Given the description of an element on the screen output the (x, y) to click on. 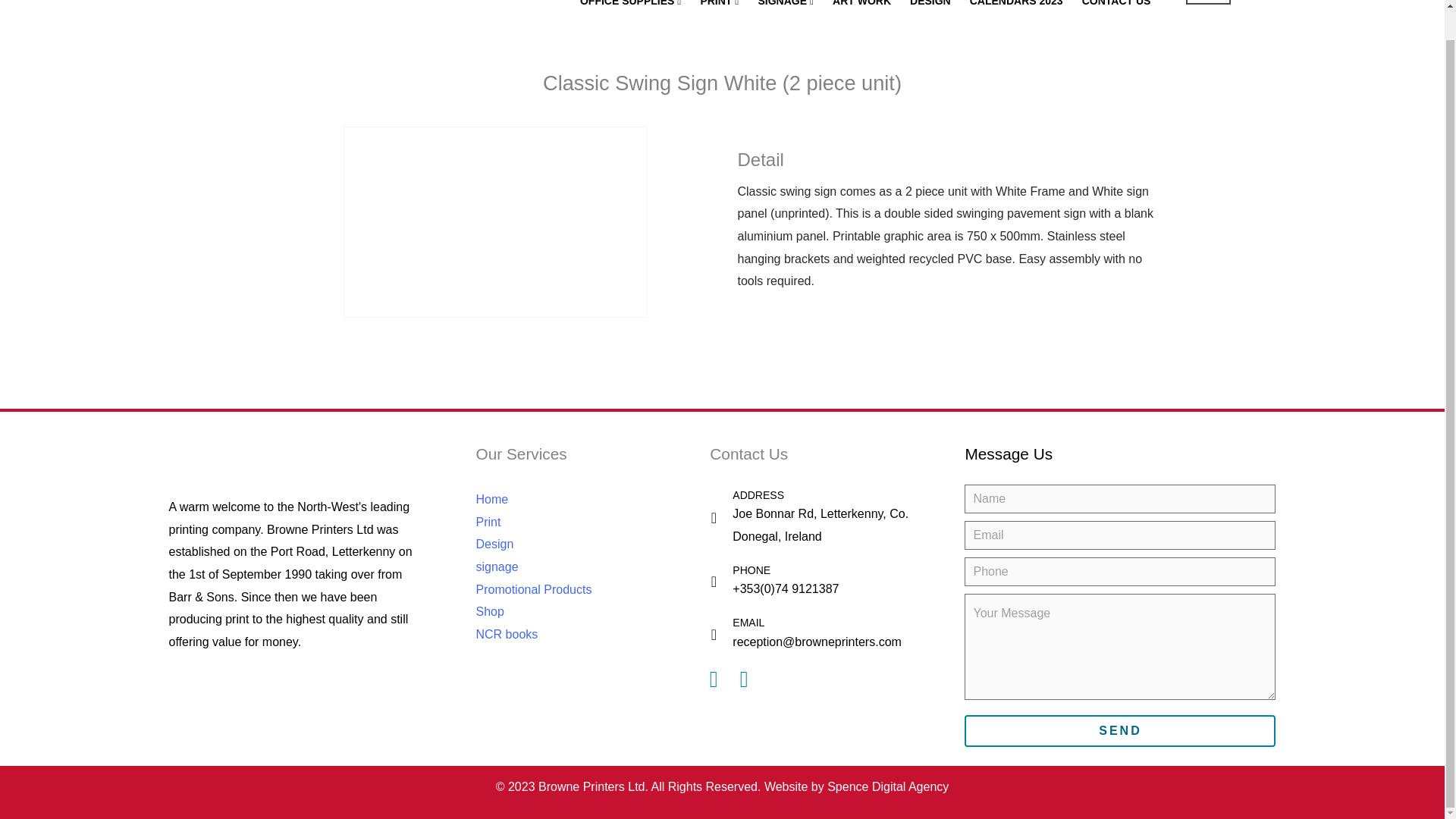
OFFICE SUPPLIES (632, 9)
browneprinters-signage-logo (332, 19)
